Given the description of an element on the screen output the (x, y) to click on. 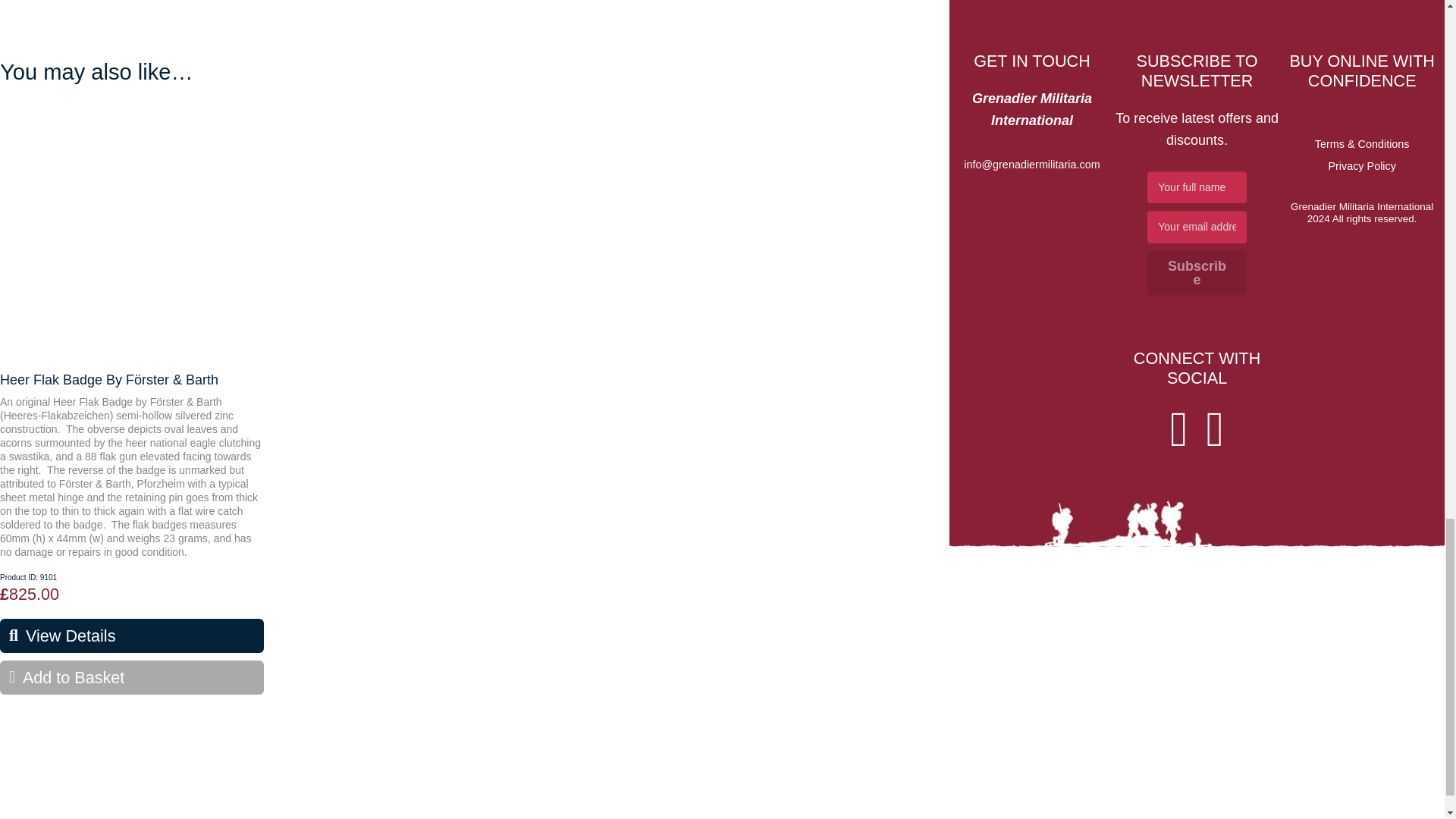
Like us on Facebook (1179, 429)
Add to Basket (131, 677)
Like us on Instagram (1215, 429)
View Details (131, 635)
